Given the description of an element on the screen output the (x, y) to click on. 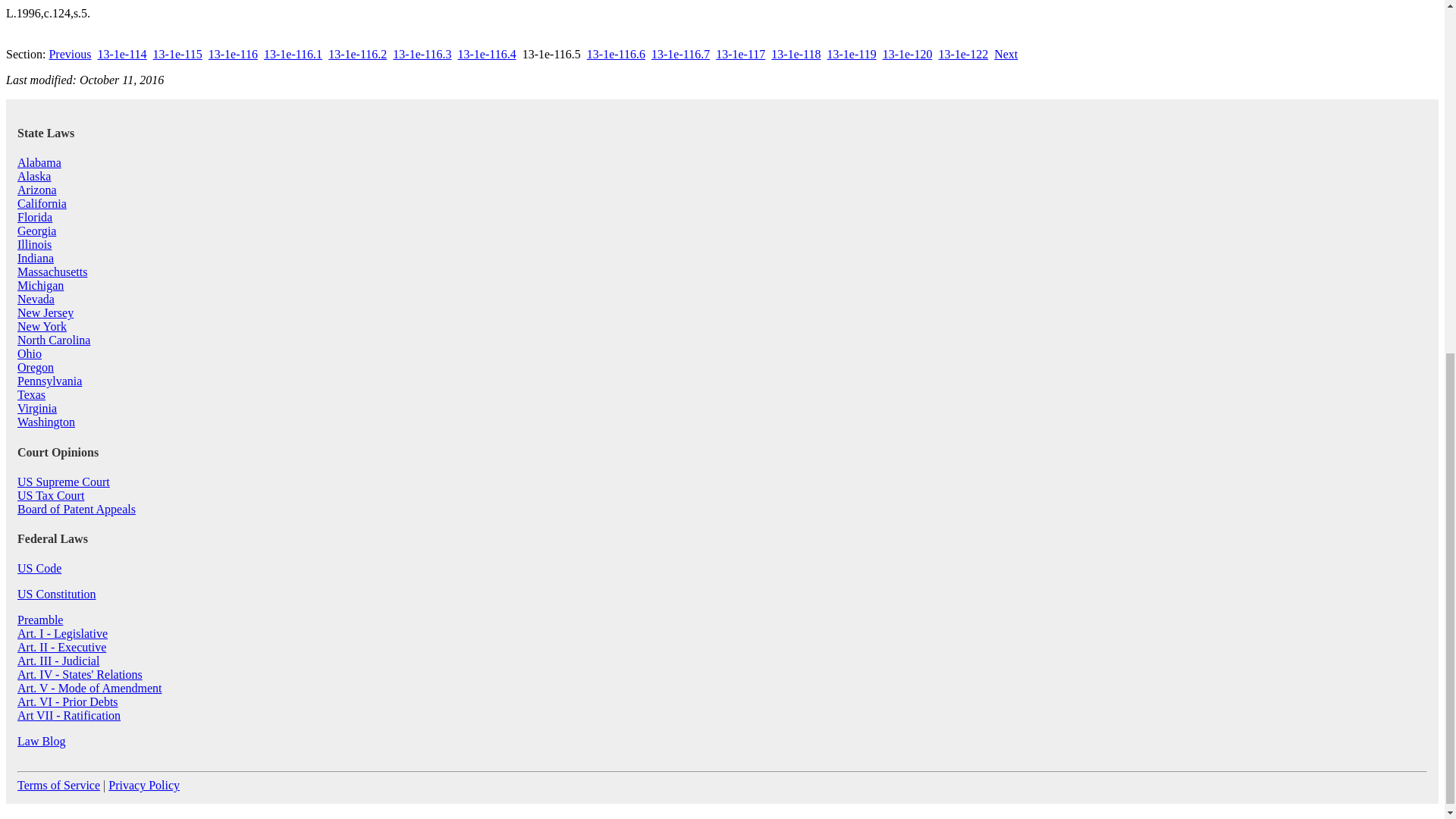
13-1e-117 (740, 53)
13-1e-116.2 (358, 53)
California (41, 203)
Georgia (36, 230)
Indiana (35, 257)
13-1e-116.6 (615, 53)
Nevada (36, 298)
13-1e-114 (122, 53)
13-1e-116.7 (680, 53)
13-1e-119 (851, 53)
13-1e-115 (177, 53)
Alabama (39, 162)
Michigan (40, 285)
Illinois (33, 244)
13-1e-116 (232, 53)
